Given the description of an element on the screen output the (x, y) to click on. 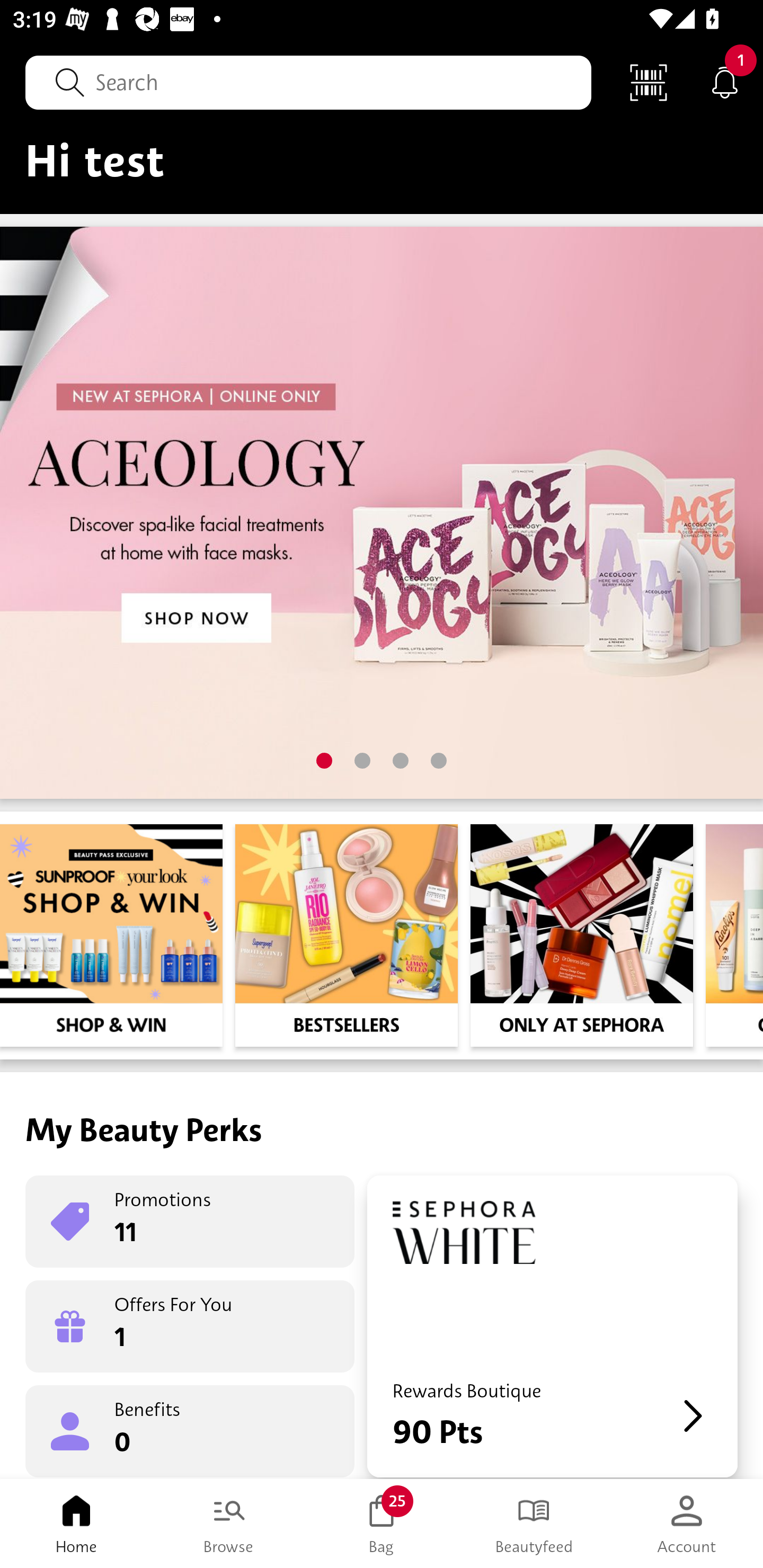
Scan Code (648, 81)
Notifications (724, 81)
Search (308, 81)
Promotions 11 (189, 1221)
Rewards Boutique 90 Pts (552, 1326)
Offers For You 1 (189, 1326)
Benefits 0 (189, 1430)
Browse (228, 1523)
Bag 25 Bag (381, 1523)
Beautyfeed (533, 1523)
Account (686, 1523)
